Given the description of an element on the screen output the (x, y) to click on. 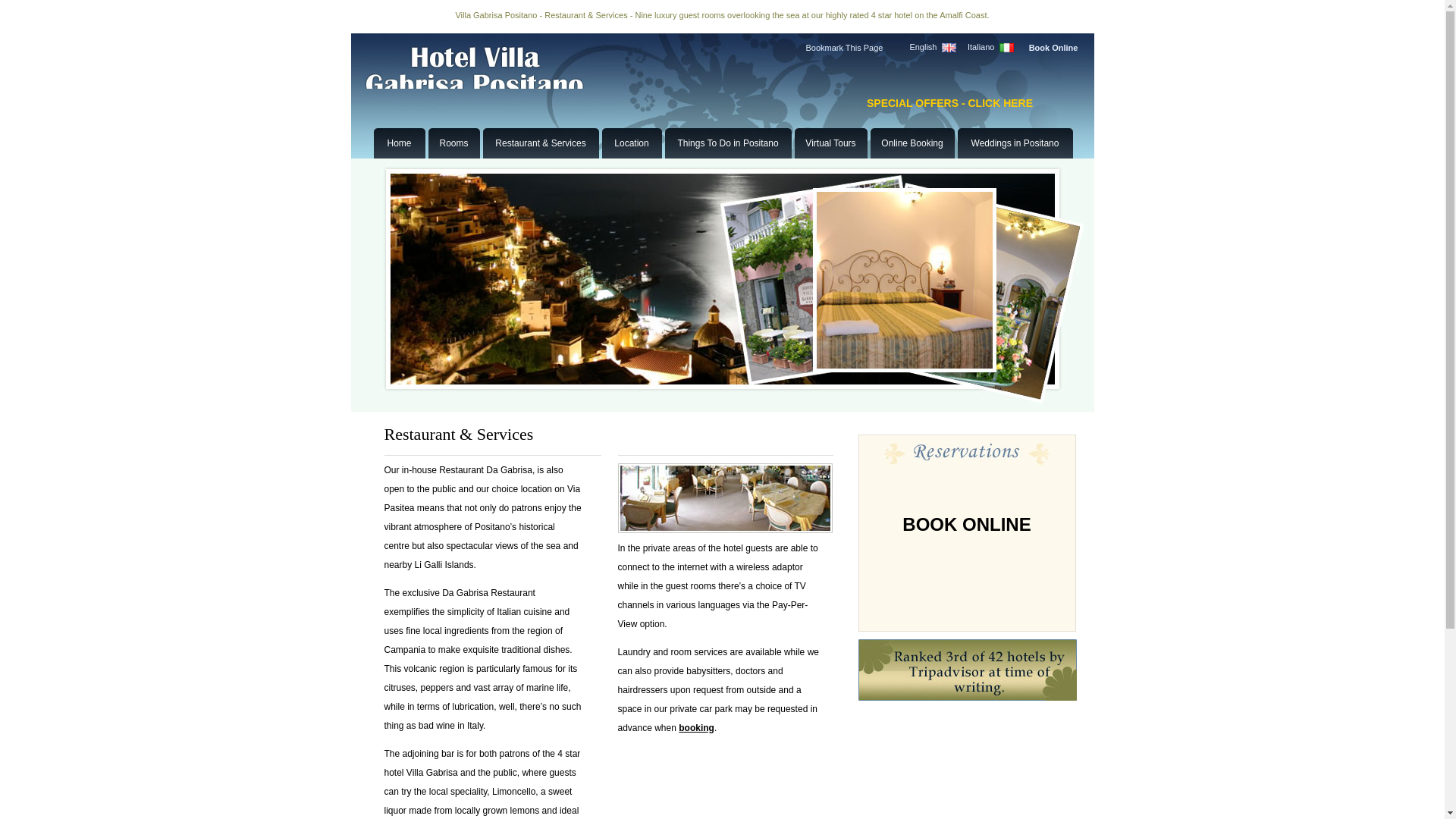
Bookmark This Page (843, 47)
Italiano (981, 46)
Weddings in Positano (1015, 143)
Online Booking (911, 143)
Home (398, 143)
SPECIAL OFFERS - CLICK HERE (949, 102)
booking (696, 727)
Rooms (453, 143)
Location (630, 143)
English (922, 46)
